Given the description of an element on the screen output the (x, y) to click on. 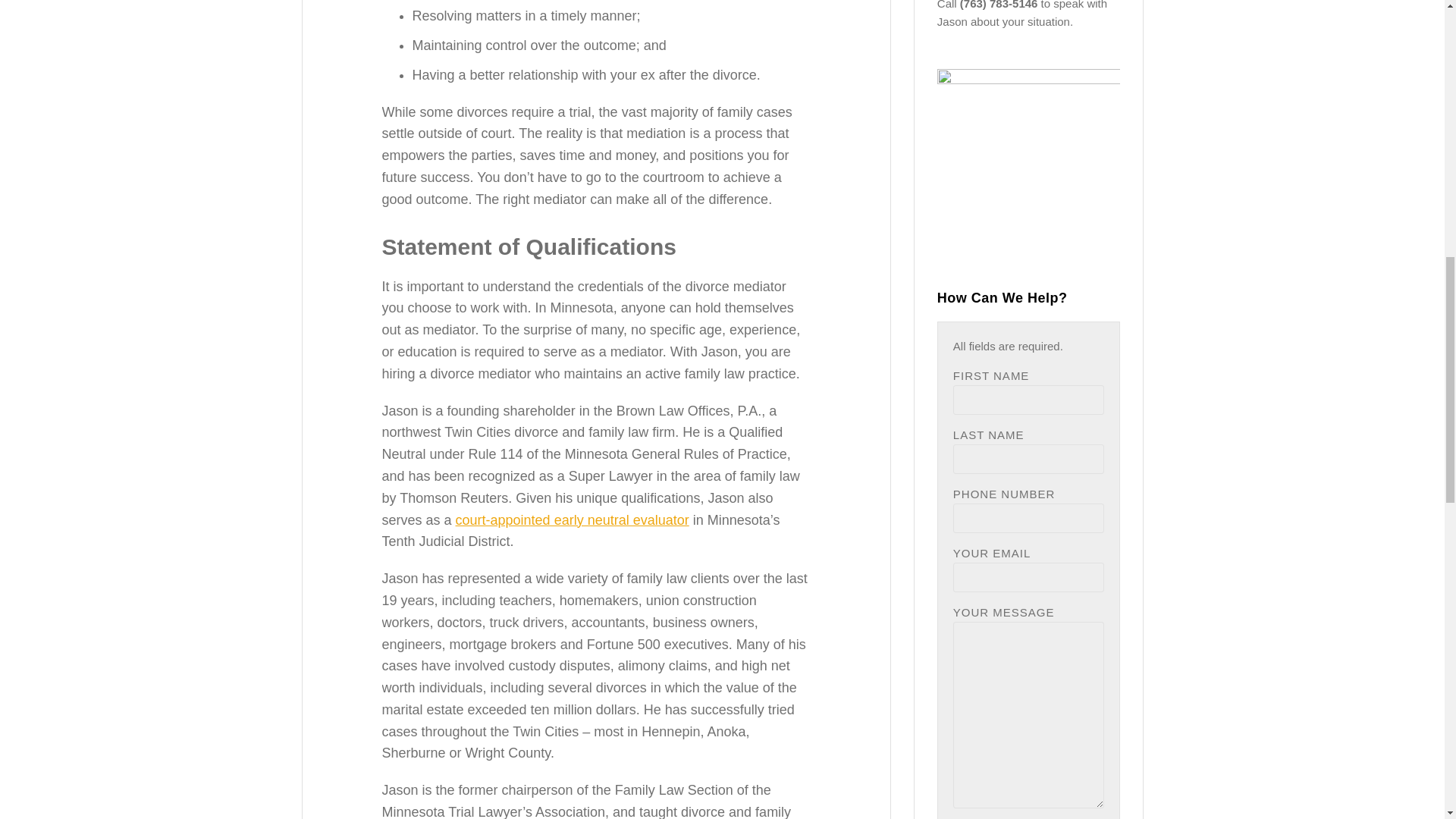
court-appointed early neutral evaluator (571, 519)
